Given the description of an element on the screen output the (x, y) to click on. 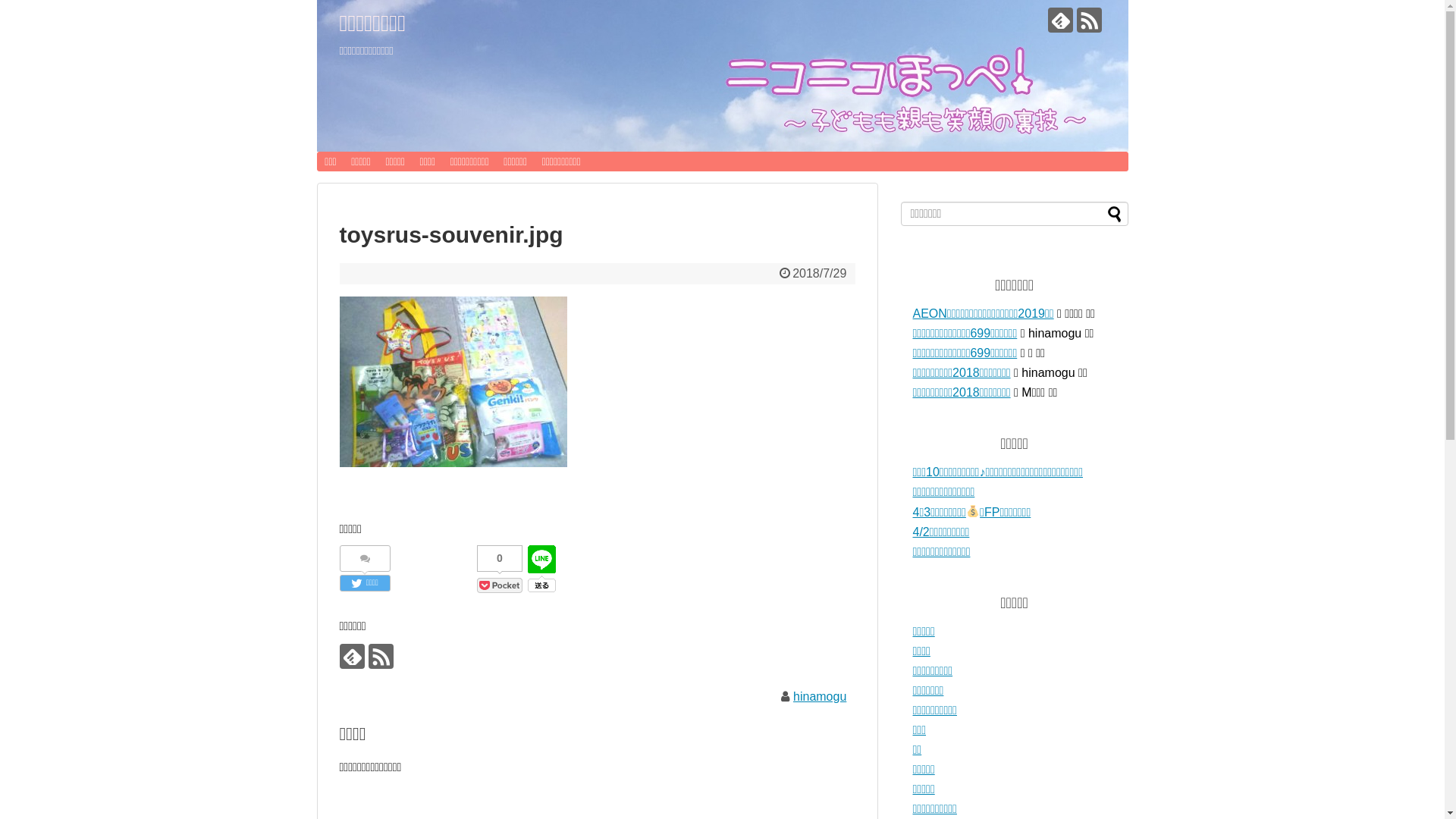
hinamogu Element type: text (819, 696)
